Given the description of an element on the screen output the (x, y) to click on. 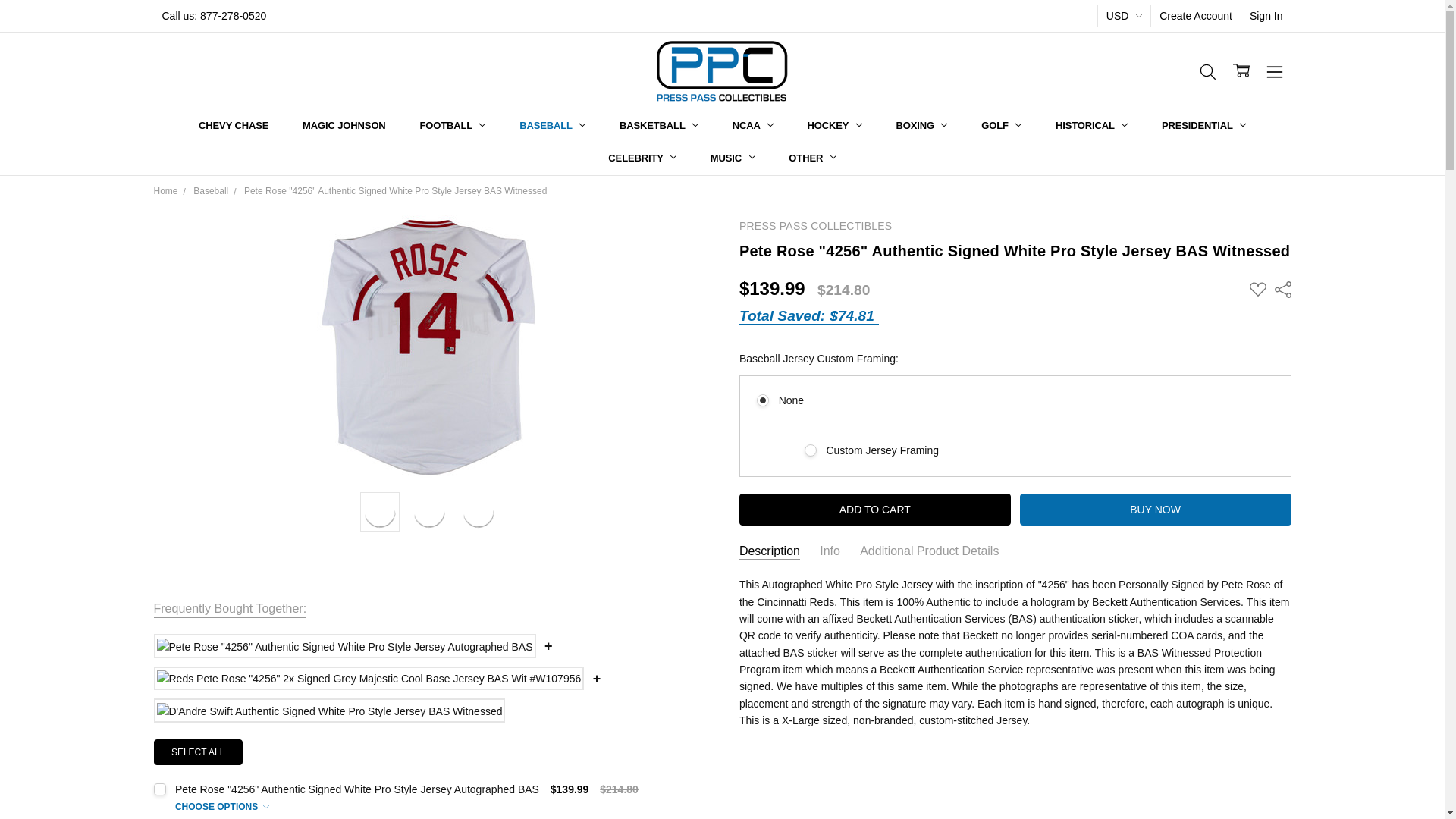
CHEVY CHASE (233, 125)
Call us: 877-278-0520 (213, 15)
Buy Now (1155, 509)
FOOTBALL (452, 125)
Sign In (1266, 15)
Add to Cart (874, 509)
Create Account (1195, 15)
